Given the description of an element on the screen output the (x, y) to click on. 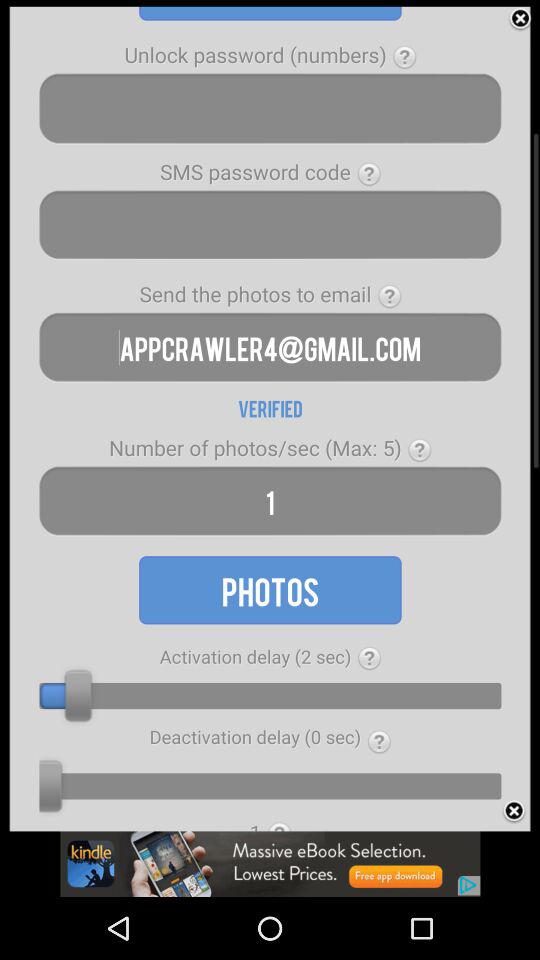
go to search (270, 224)
